Given the description of an element on the screen output the (x, y) to click on. 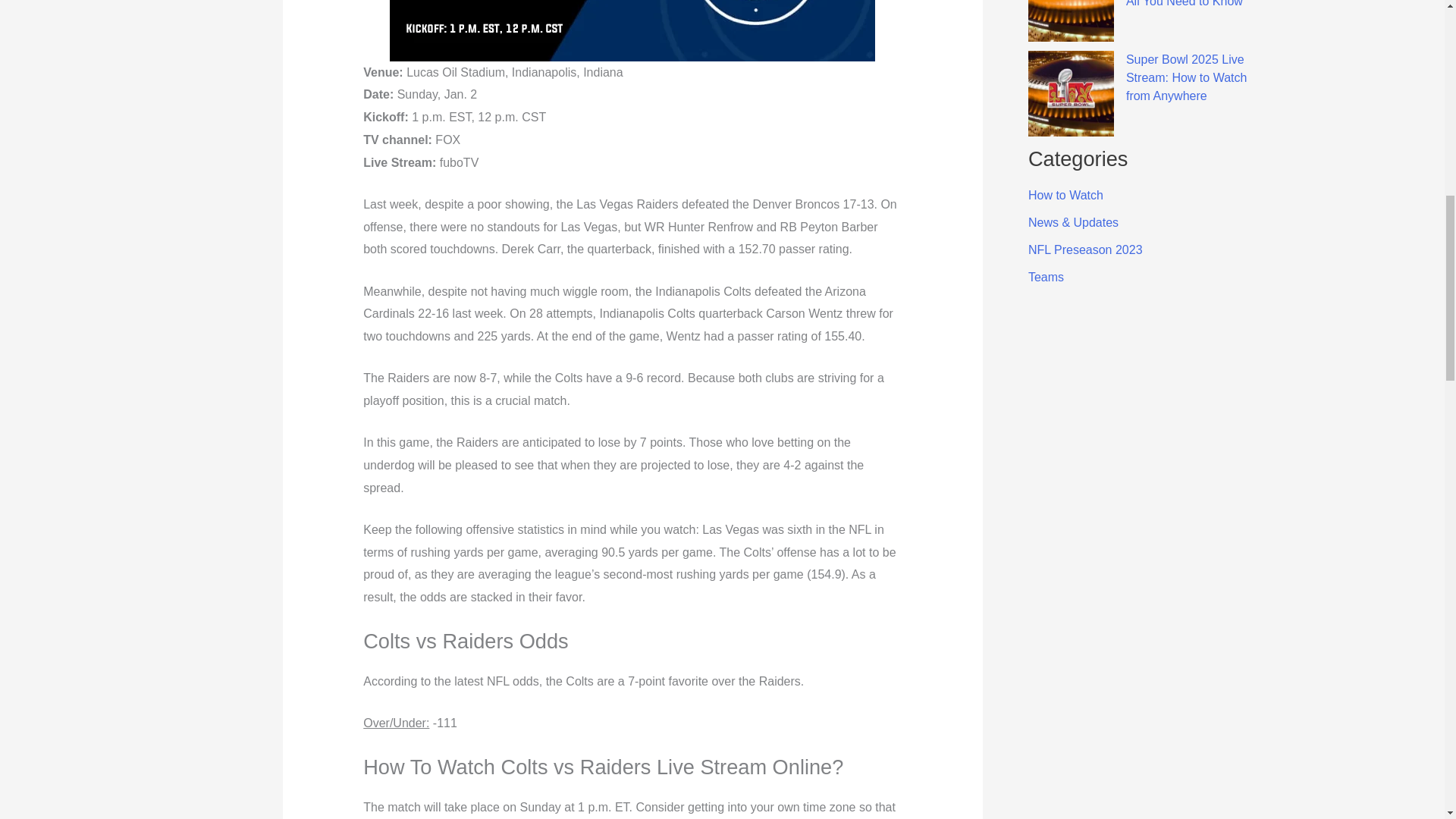
How to Watch (1065, 195)
Super Bowl 2025 Live Stream: How to Watch from Anywhere (1185, 77)
